Given the description of an element on the screen output the (x, y) to click on. 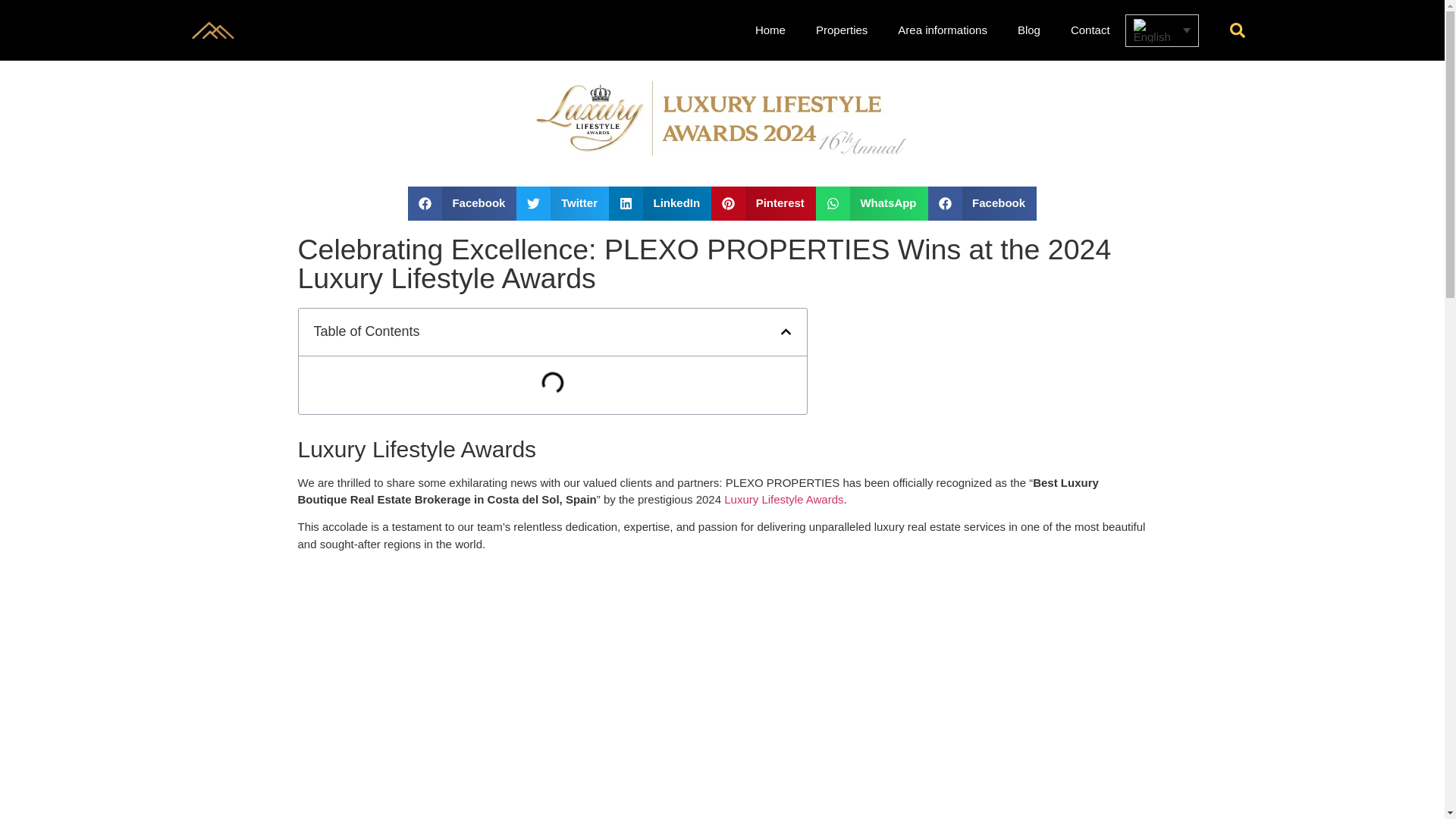
Luxury Lifestyle Awards (783, 499)
Contact (1090, 30)
Properties (841, 30)
Area informations (942, 30)
Home (769, 30)
Blog (1029, 30)
